Given the description of an element on the screen output the (x, y) to click on. 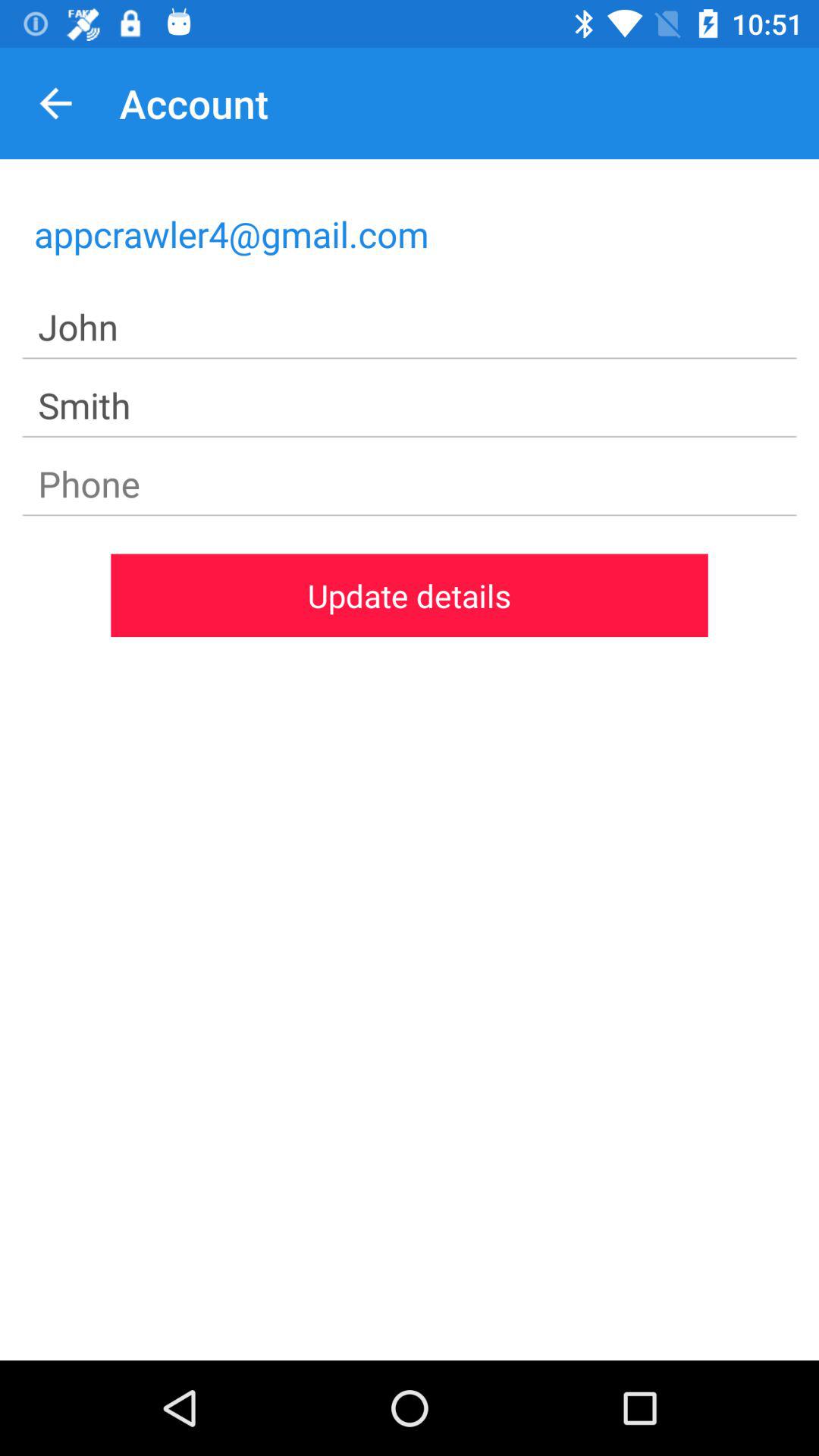
press the item above the john (409, 233)
